Given the description of an element on the screen output the (x, y) to click on. 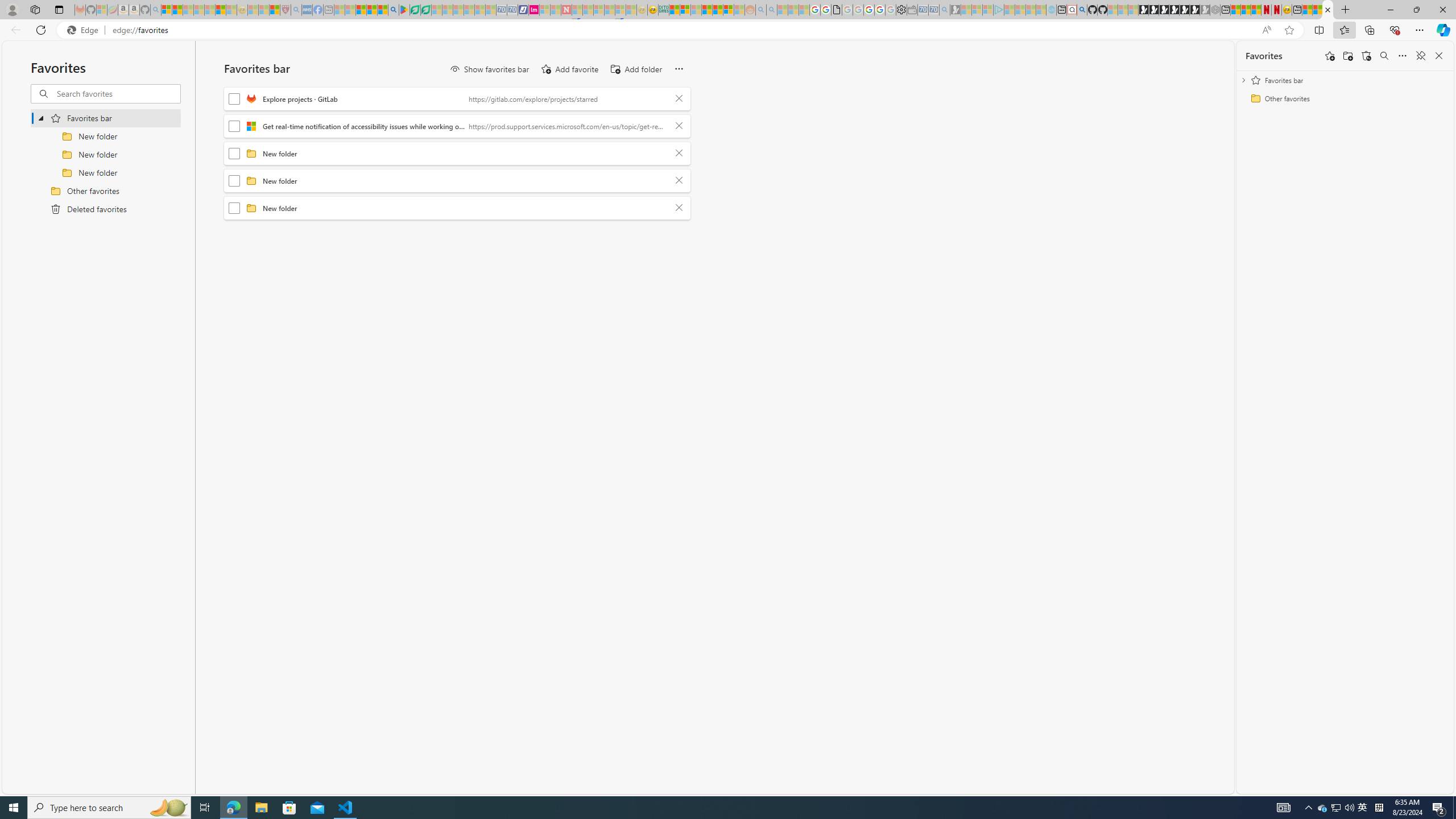
google - Search (392, 9)
MSNBC - MSN (673, 9)
list of asthma inhalers uk - Search - Sleeping (296, 9)
Latest Politics News & Archive | Newsweek.com - Sleeping (566, 9)
MSNBC - MSN - Sleeping (339, 9)
